Given the description of an element on the screen output the (x, y) to click on. 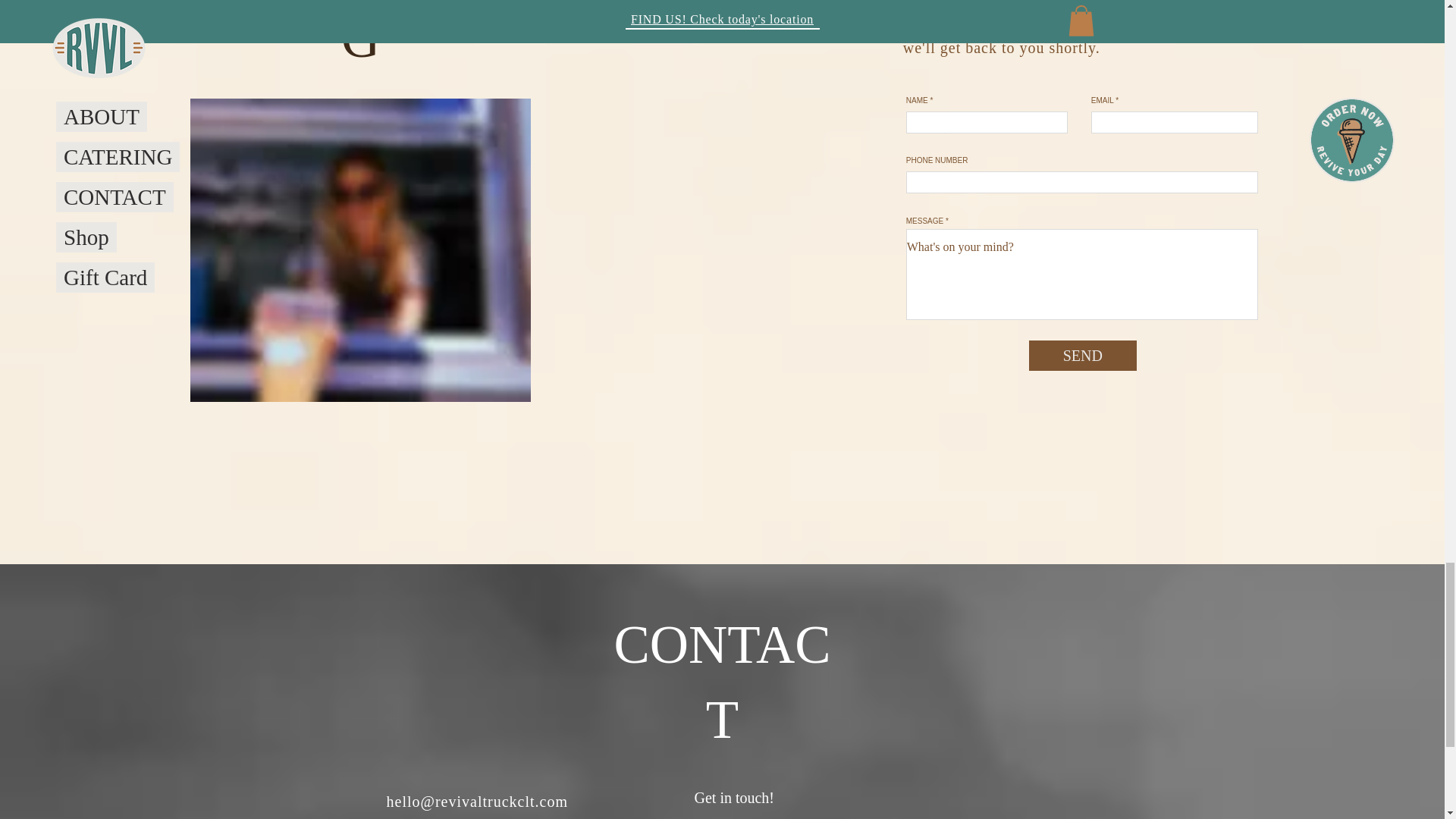
SEND (1083, 355)
